Given the description of an element on the screen output the (x, y) to click on. 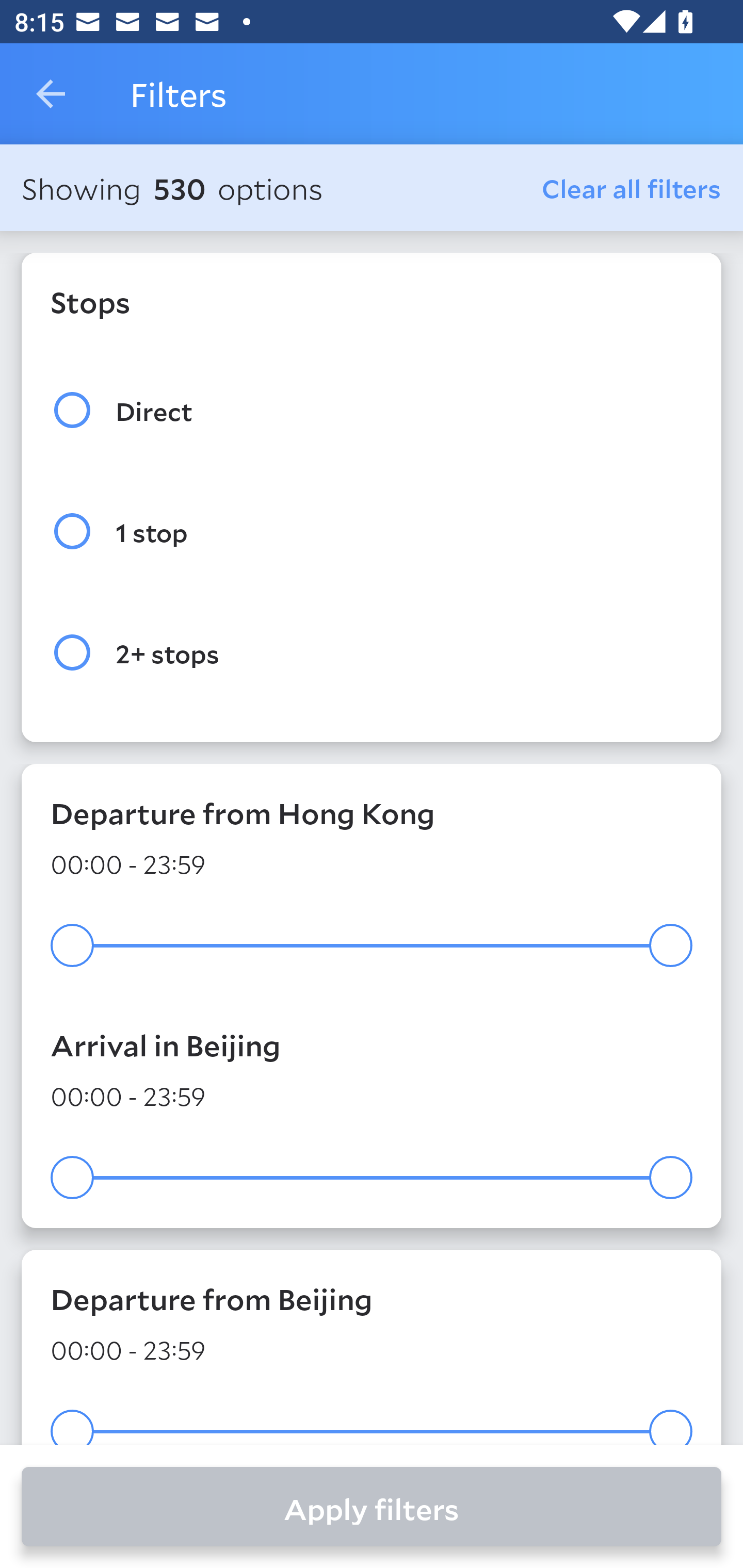
Navigate up (50, 93)
Clear all filters (631, 187)
Direct (371, 409)
1 stop (371, 531)
2+ stops (371, 652)
Apply filters (371, 1506)
